Given the description of an element on the screen output the (x, y) to click on. 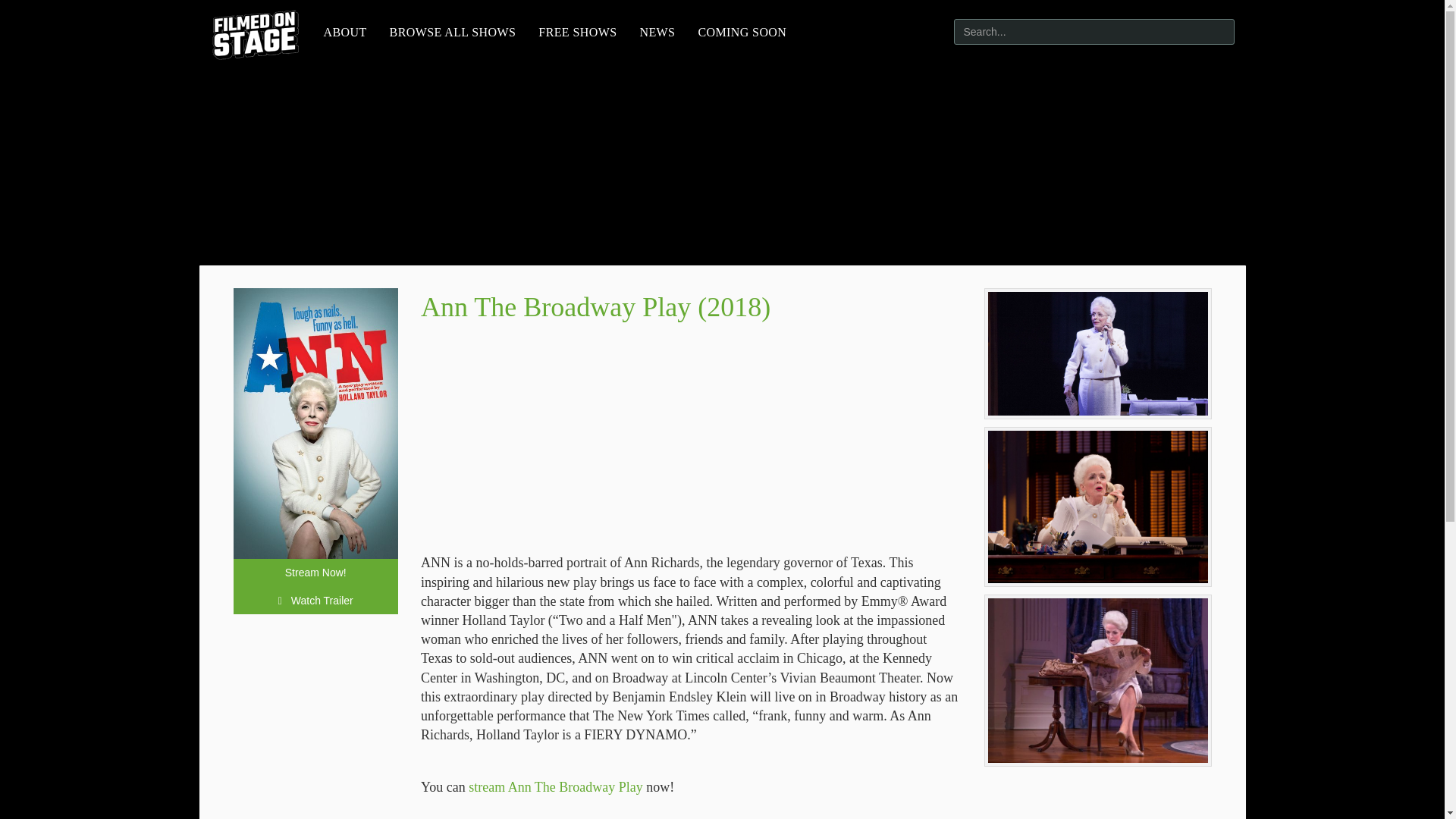
Watch Trailer (315, 600)
Advertisement (690, 439)
COMING SOON (741, 32)
BROWSE ALL SHOWS (452, 32)
Stream Now! (315, 572)
stream Ann The Broadway Play (555, 786)
NEWS (656, 32)
FREE SHOWS (577, 32)
ABOUT (345, 32)
